Given the description of an element on the screen output the (x, y) to click on. 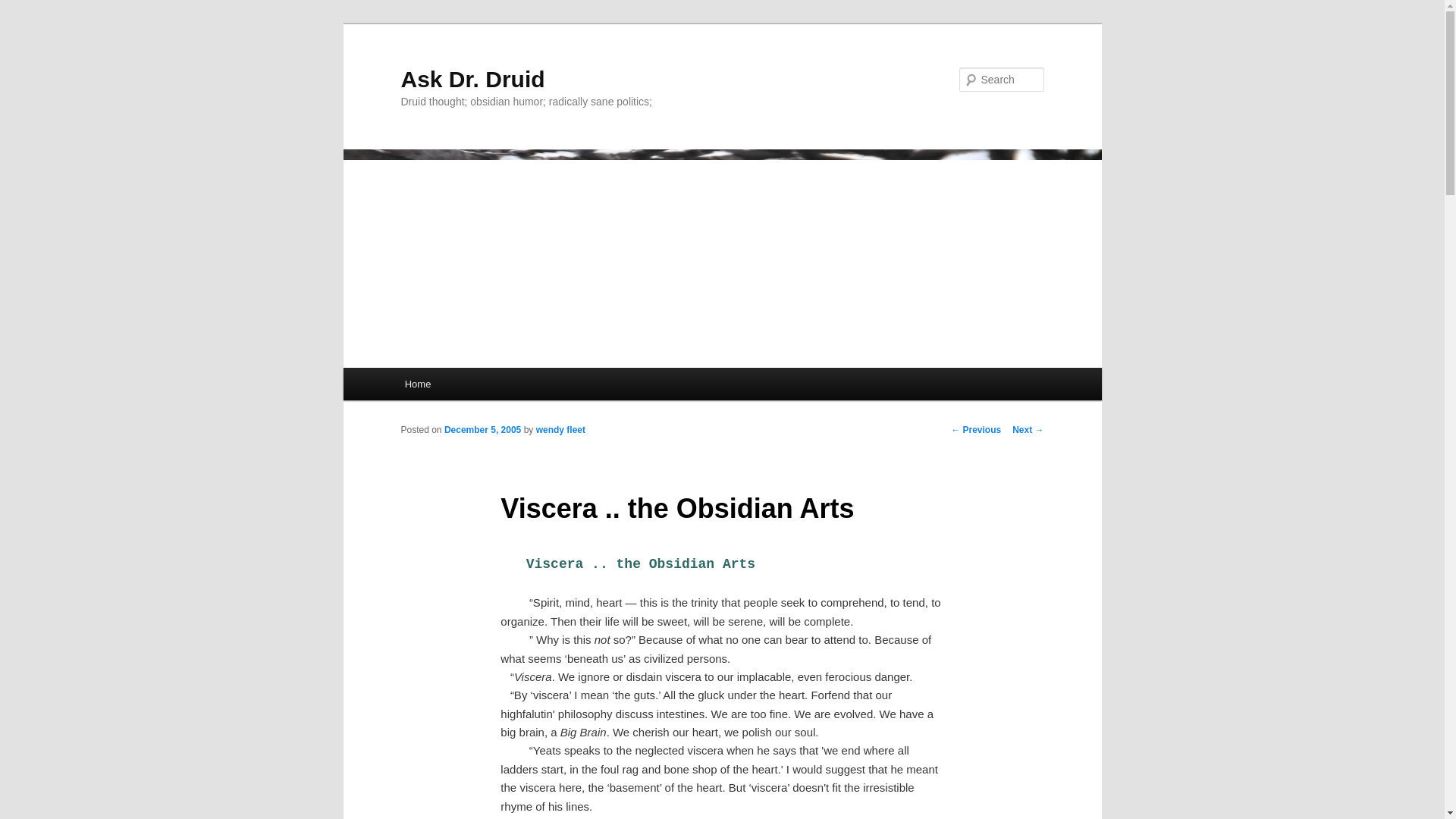
December 5, 2005 (482, 429)
Home (417, 383)
View all posts by wendy fleet (560, 429)
Ask Dr. Druid (472, 78)
wendy fleet (560, 429)
Search (24, 8)
8:00 am (482, 429)
